Given the description of an element on the screen output the (x, y) to click on. 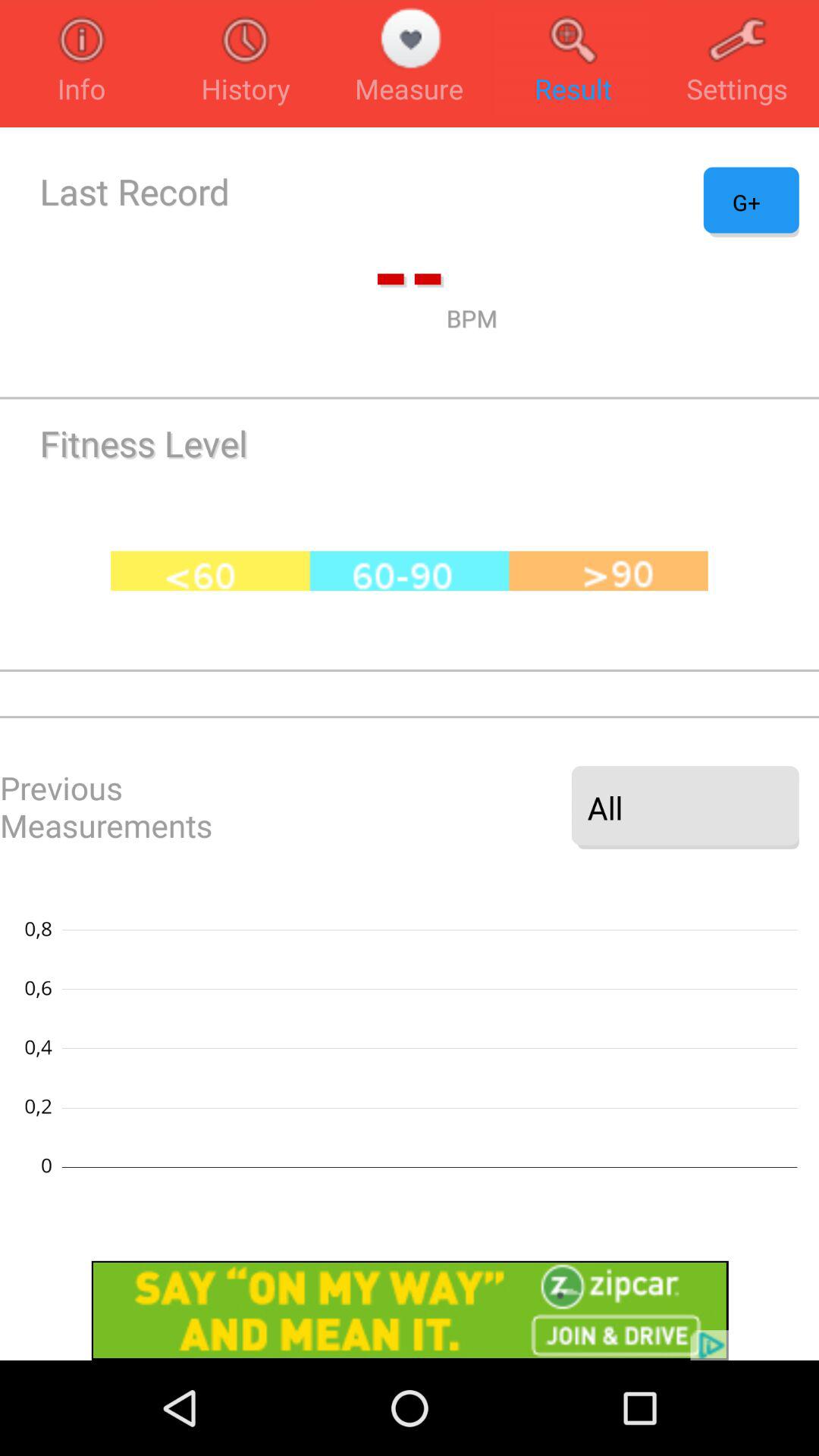
go to zip car (409, 1310)
